Given the description of an element on the screen output the (x, y) to click on. 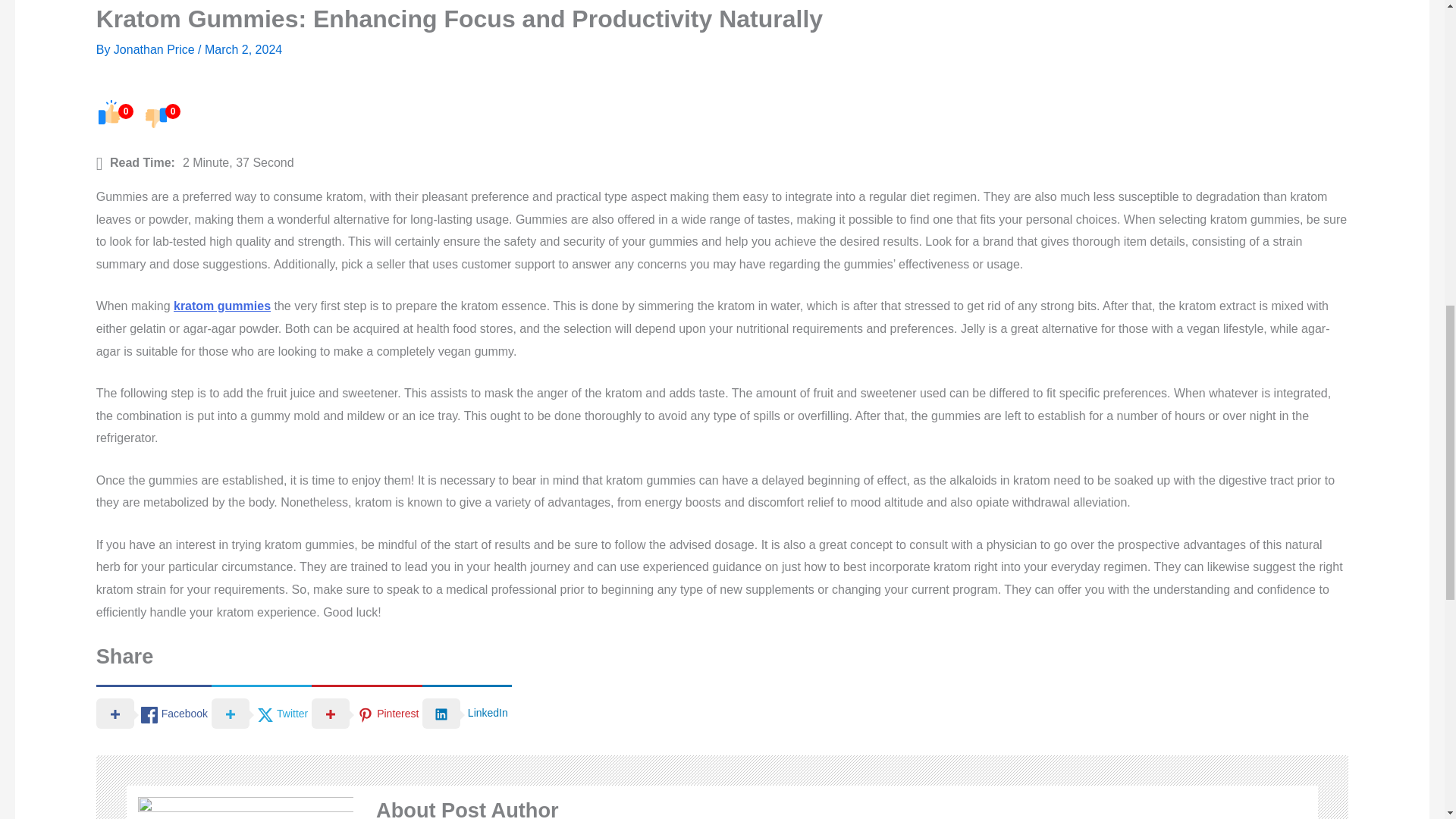
Twitter (261, 712)
View all posts by Jonathan Price (155, 49)
kratom gummies (221, 305)
Pinterest (366, 712)
Facebook (153, 712)
Jonathan Price (155, 49)
LinkedIn (466, 712)
